Given the description of an element on the screen output the (x, y) to click on. 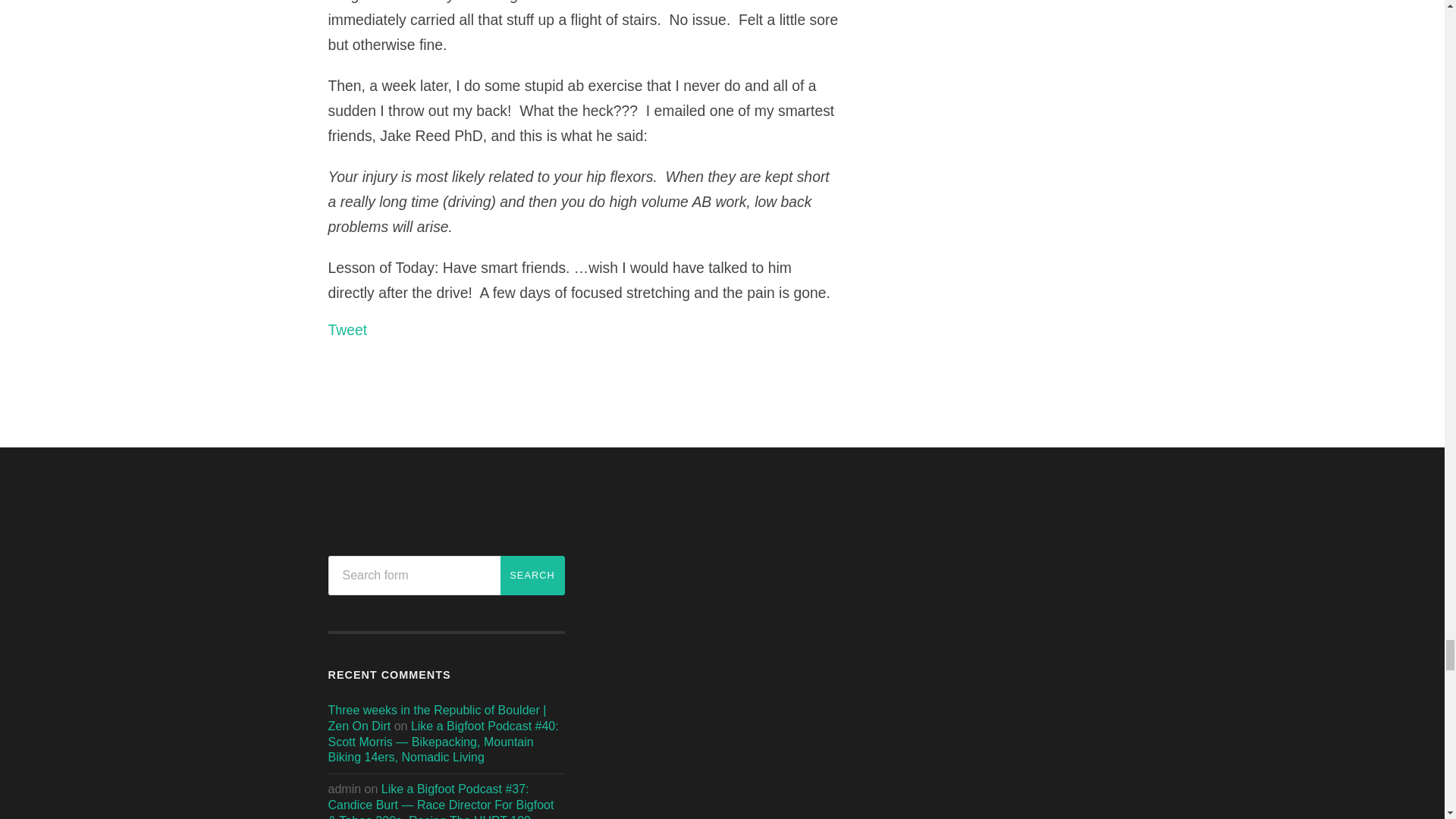
Search (532, 575)
